Given the description of an element on the screen output the (x, y) to click on. 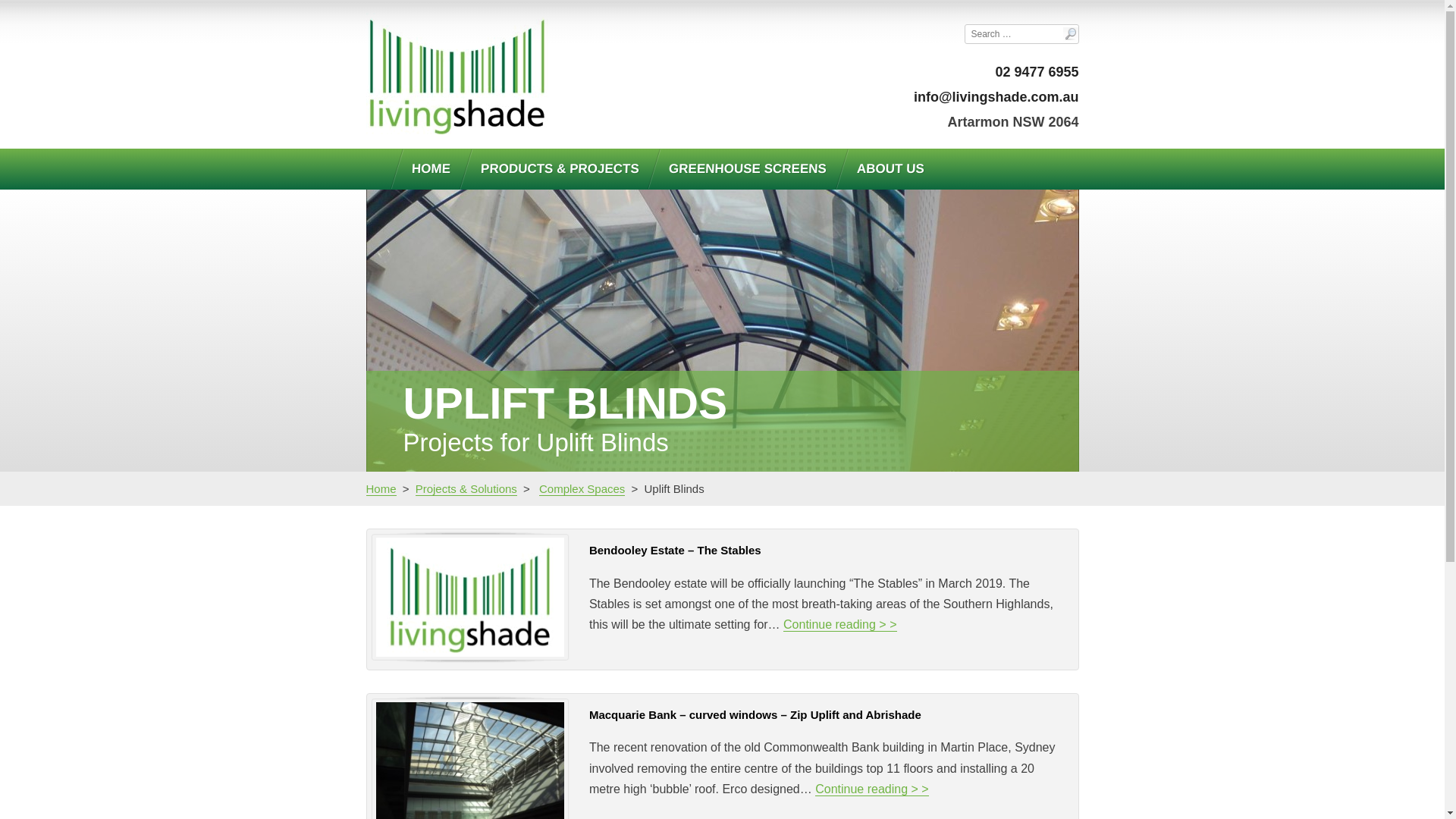
Continue reading > > Element type: text (839, 624)
PRODUCTS & PROJECTS Element type: text (552, 168)
GREENHOUSE SCREENS Element type: text (741, 168)
Search Element type: text (24, 9)
ABOUT US Element type: text (884, 168)
Home Element type: text (380, 488)
Continue reading > > Element type: text (871, 789)
Projects & Solutions Element type: text (466, 488)
HOME Element type: text (423, 168)
info@livingshade.com.au Element type: text (996, 96)
Complex Spaces Element type: text (581, 488)
02 9477 6955 Element type: text (1036, 71)
